Given the description of an element on the screen output the (x, y) to click on. 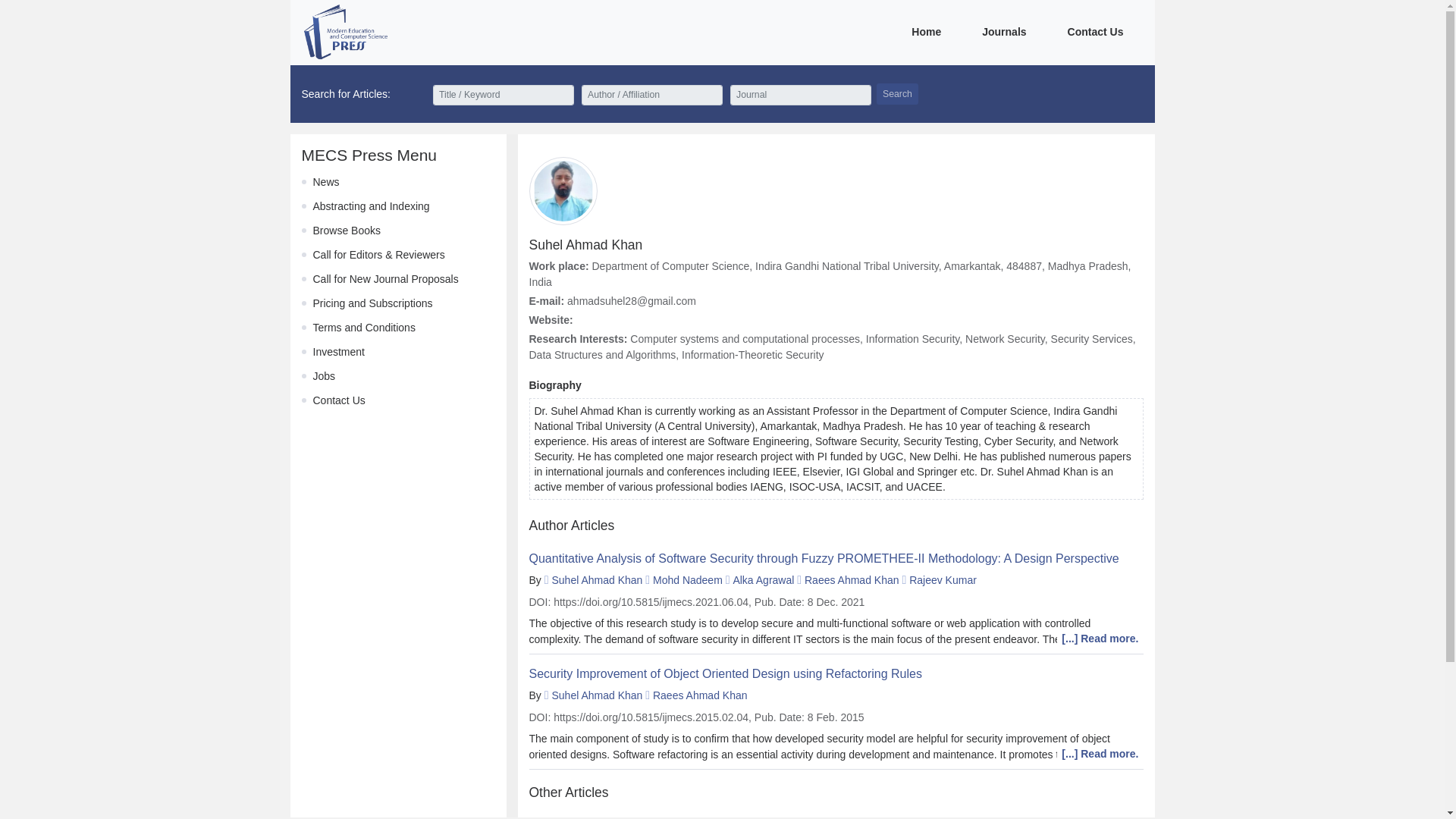
Browse Books (346, 230)
Contact Us (339, 399)
Raees Ahmad Khan (852, 580)
Suhel Ahmad Khan (596, 695)
Search (897, 93)
Abstracting and Indexing (371, 205)
Call for New Journal Proposals (385, 278)
Suhel Ahmad Khan (596, 580)
Pricing and Subscriptions (372, 303)
